Given the description of an element on the screen output the (x, y) to click on. 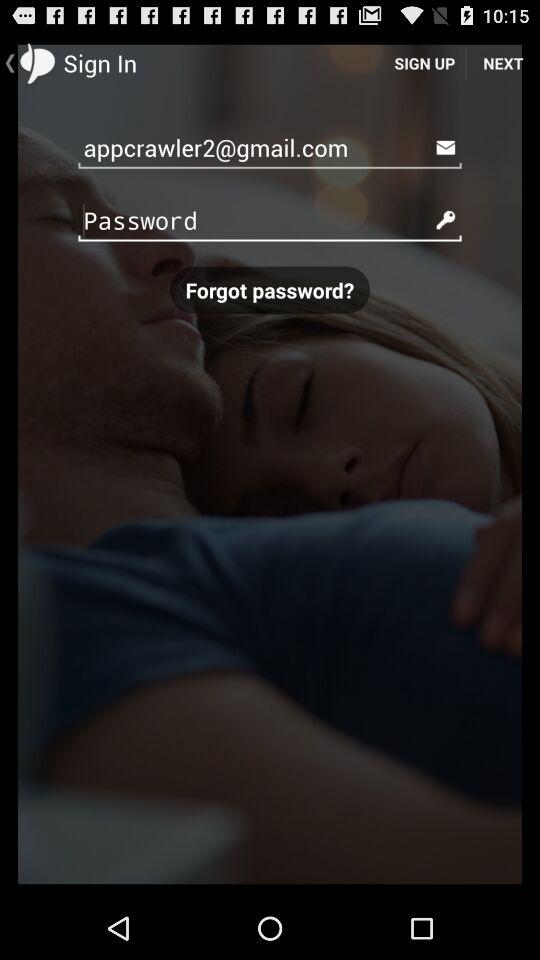
launch appcrawler2@gmail.com item (269, 146)
